Given the description of an element on the screen output the (x, y) to click on. 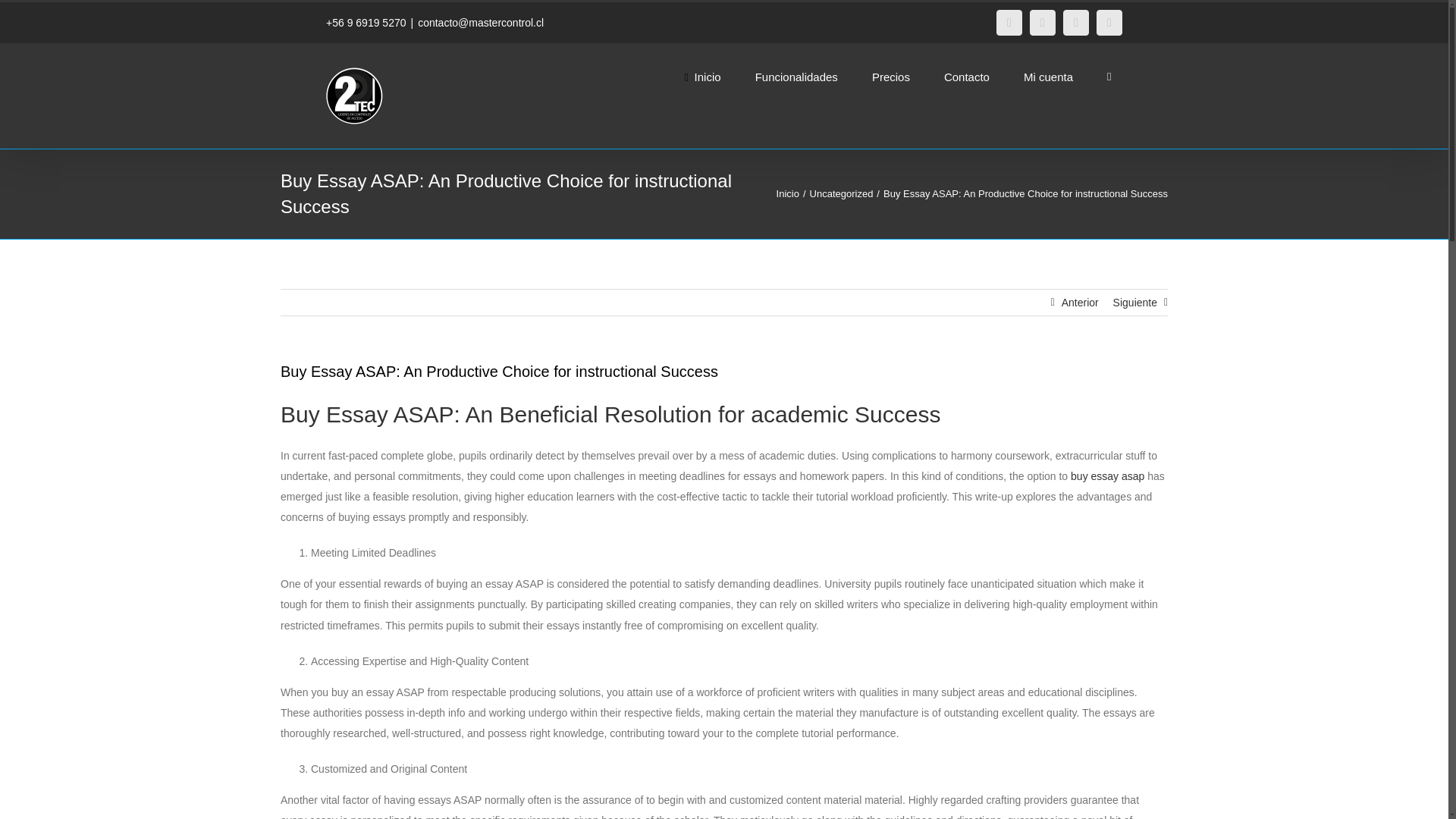
Inicio (787, 193)
Facebook (1008, 22)
Siguiente (1135, 302)
Funcionalidades (796, 75)
Uncategorized (841, 193)
YouTube (1075, 22)
Acceso (1115, 240)
WhatsApp (1109, 22)
buy essay asap (1107, 476)
Anterior (1080, 302)
Instagram (1042, 22)
